Given the description of an element on the screen output the (x, y) to click on. 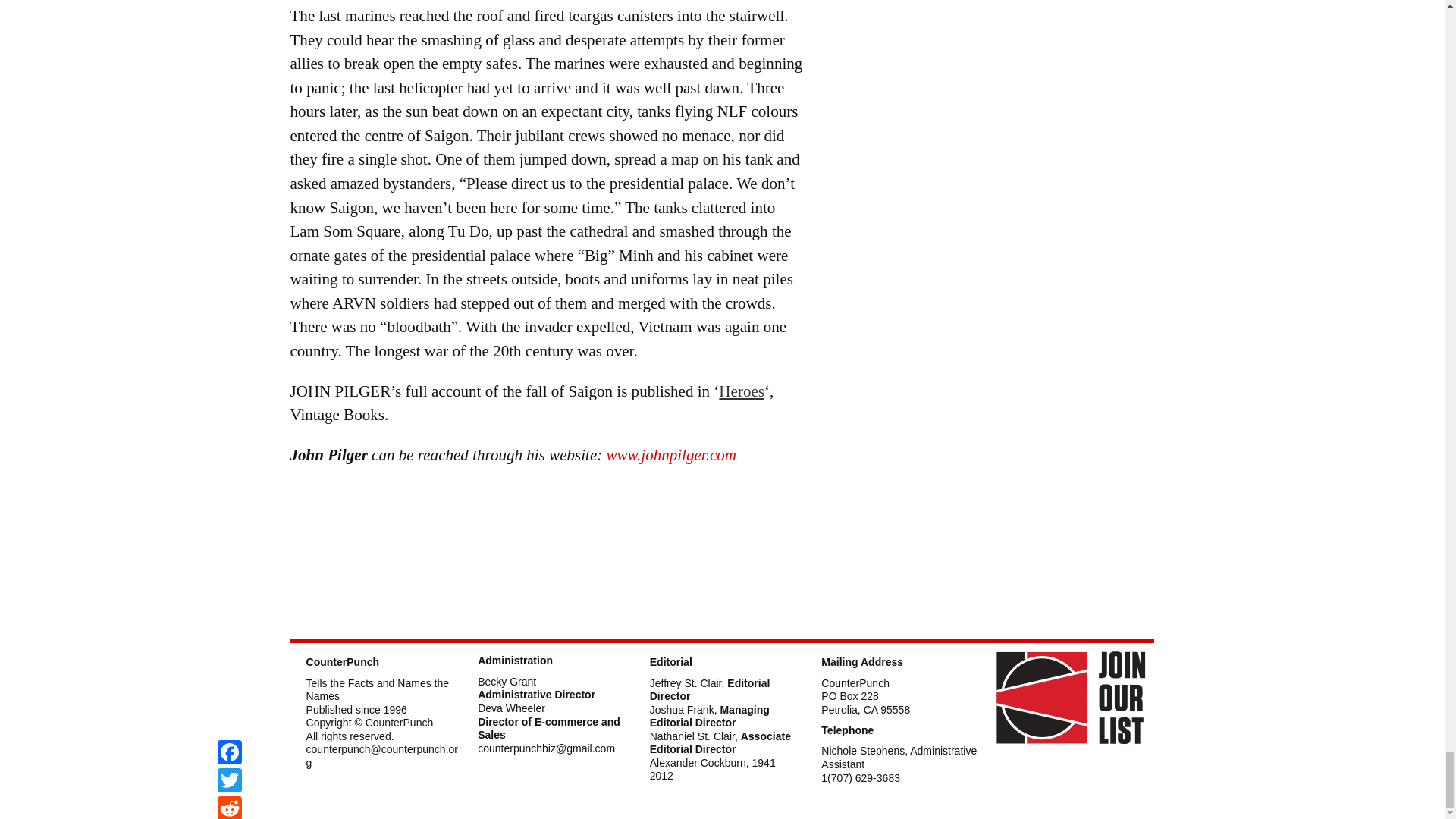
Heroes (741, 391)
www.johnpilger.com (671, 454)
